Given the description of an element on the screen output the (x, y) to click on. 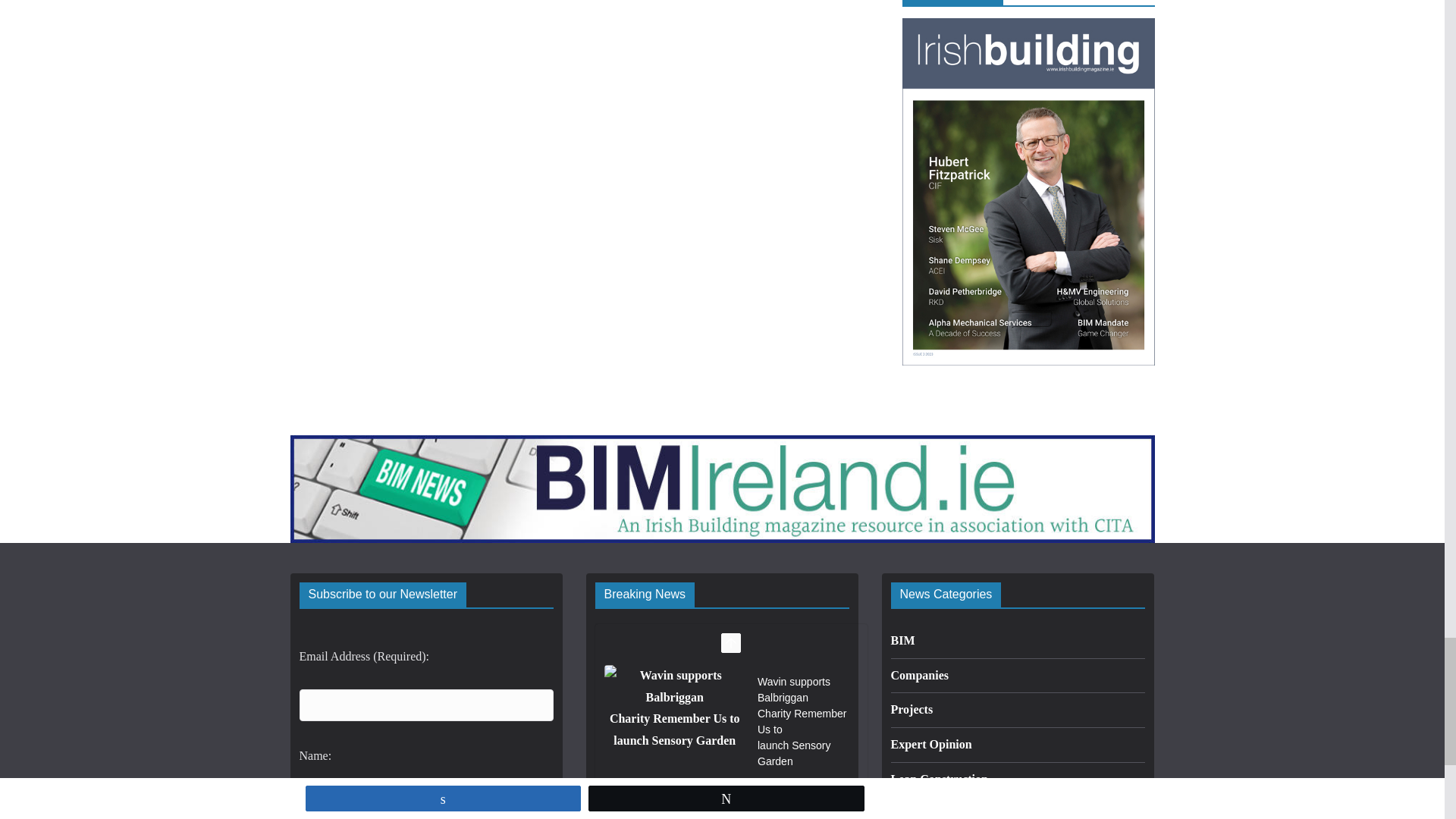
11:19 am (789, 783)
